Given the description of an element on the screen output the (x, y) to click on. 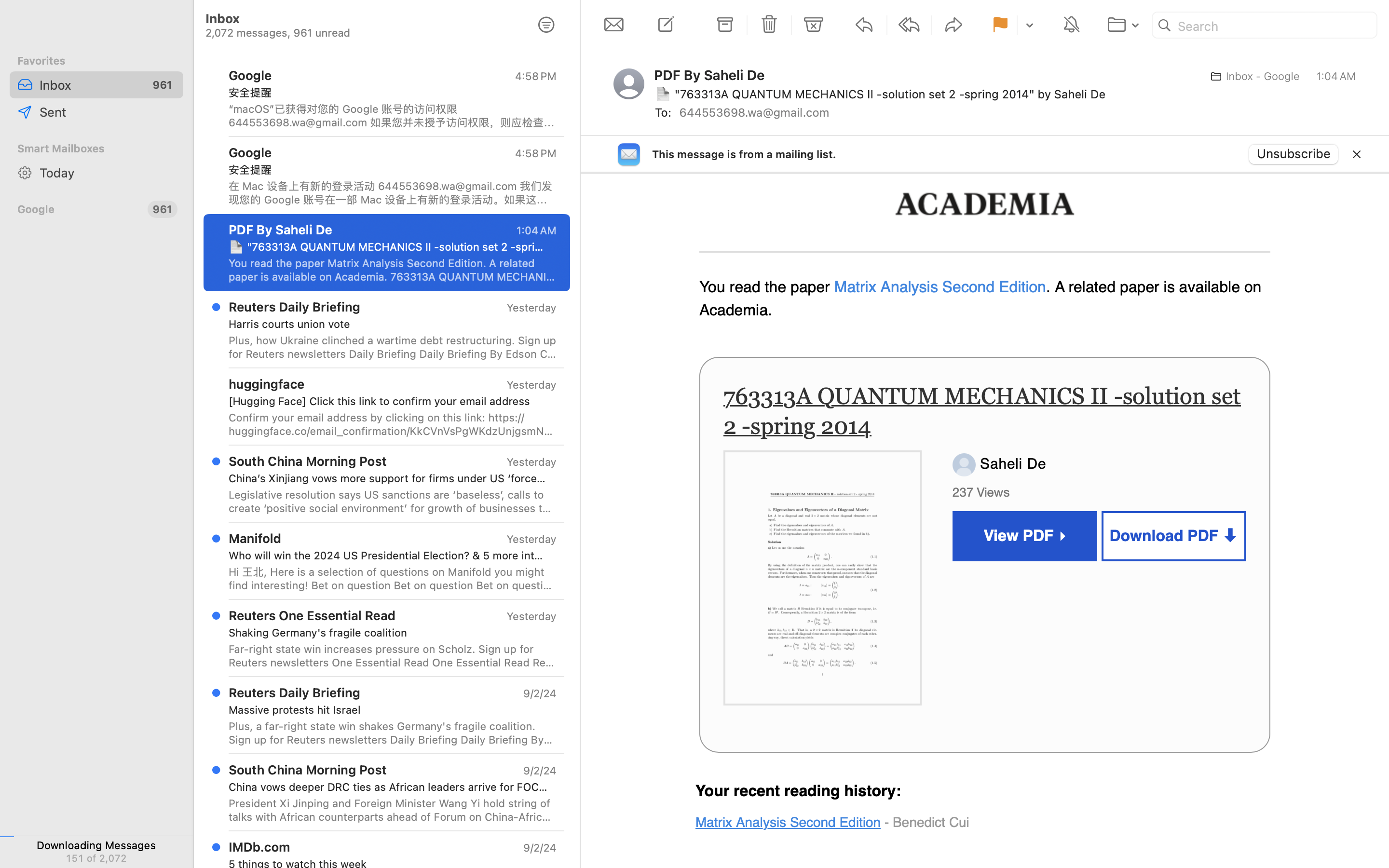
📄 "763313A QUANTUM MECHANICS II -solution set 2 -spring 2014" by Saheli De Element type: AXStaticText (388, 246)
. A related paper is available on Academia. Element type: AXStaticText (980, 298)
Confirm your email address by clicking on this link: https://huggingface.co/email_confirmation/KkCVnVsPgWKdzUnjgsmNfQwgnwKH If you didn't create a Hugging Face account, you can ignore this email. Hugging Face: The AI community building the future. Element type: AXStaticText (392, 423)
PDF By Saheli De Element type: AXStaticText (713, 74)
Plus, how Ukraine clinched a wartime debt restructuring. Sign up for Reuters newsletters Daily Briefing Daily Briefing By Edson Caldas Kamala Harris said that US Steel should remain in domestic hands, making a pitch to working-class voters in Pennsylvania who are also being courted by her rival Donald Trump. Elsewhere, we cover Britain's partial suspension of arms export licenses to Israel, and a slump in Intel's share price. Plus, why South Korea's beloved Kimchi is at risk. Today's Top News Kamala Harris with Joe Biden's first appearance together at a rally since she became the Democratic nominee. REUTERS/Quinn Glabicki US election Democratic presidential candidate Kamala Harris used campaign events in Michigan and Pennsylvania, two battleground states, to court the crucial labor vote. Harris has neutralized Donald Trump's edge on the economy among Hispanic voters, and her 13 percentage point lead within that group reflects the fact they vastly prefer her approach to healthcare and c Element type: AXStaticText (392, 346)
